Given the description of an element on the screen output the (x, y) to click on. 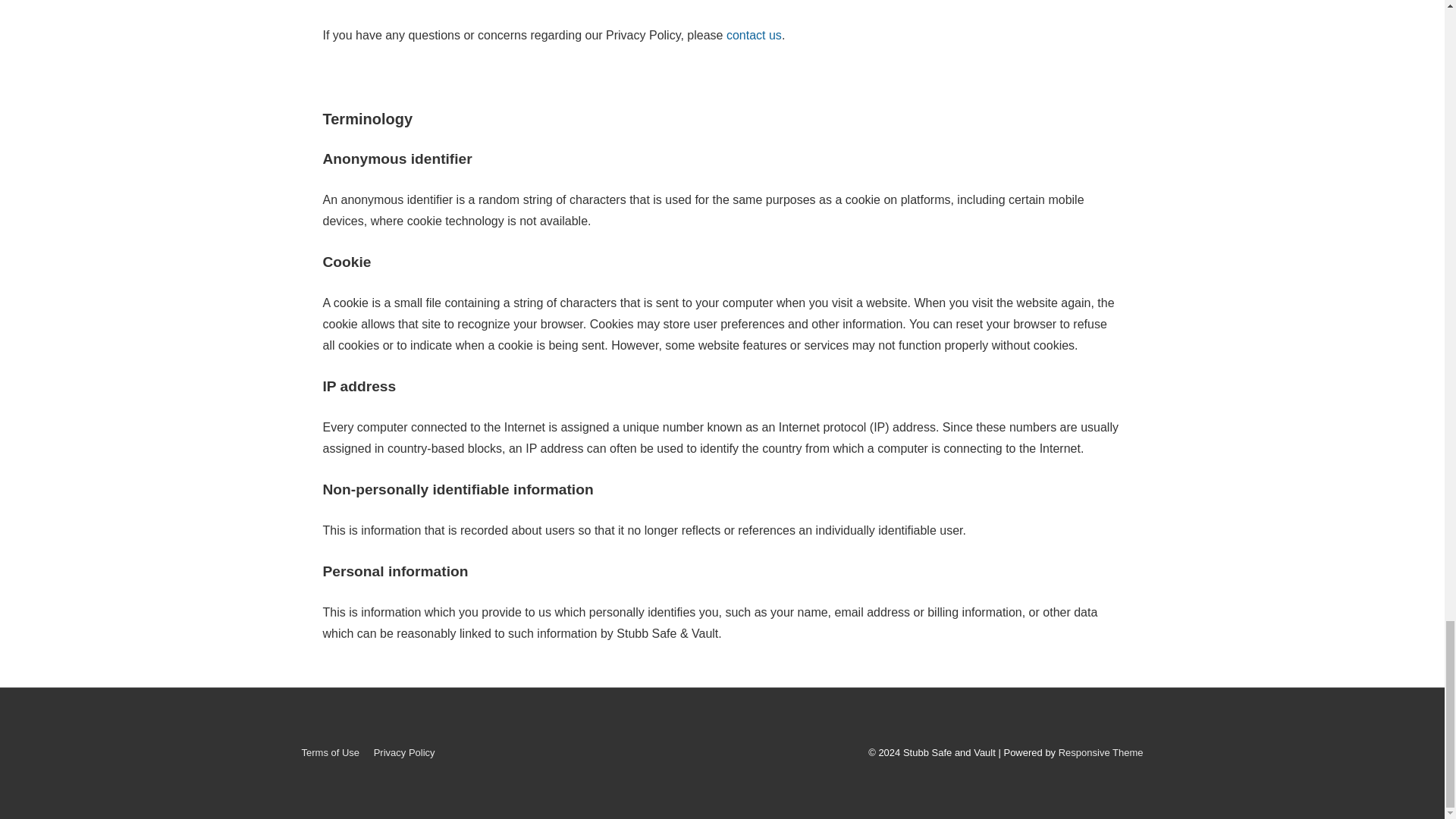
Responsive Theme (1100, 752)
Privacy Policy (404, 752)
contact us (753, 34)
Contact Us (753, 34)
Terms of Use (330, 752)
